Given the description of an element on the screen output the (x, y) to click on. 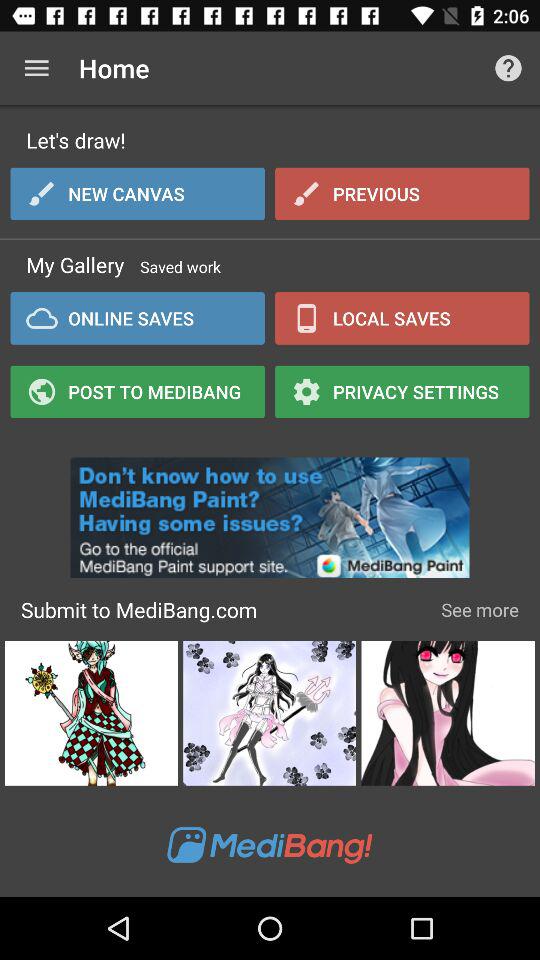
advertisements button (270, 512)
